Given the description of an element on the screen output the (x, y) to click on. 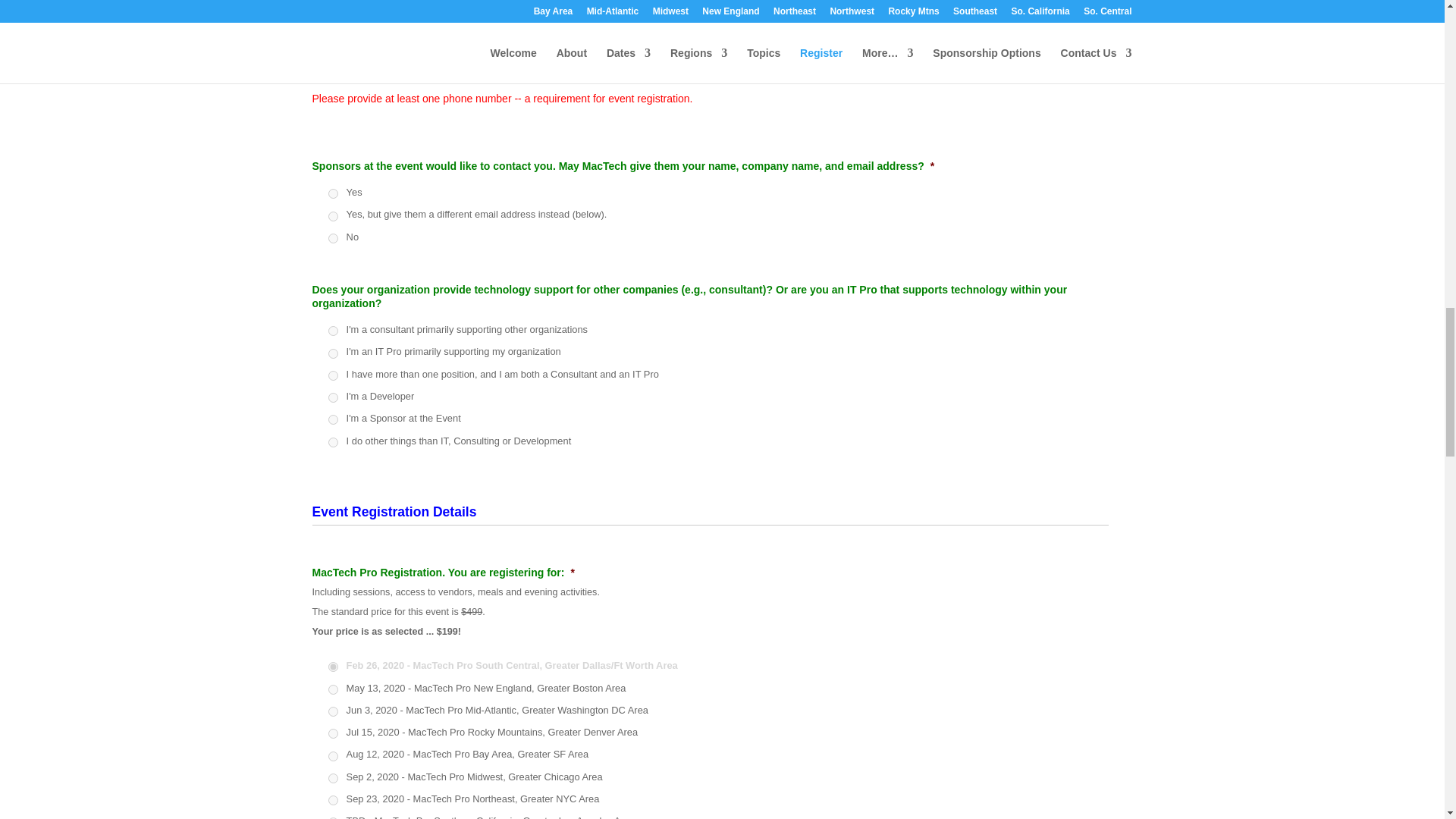
Multi-ITPro-Consultant (332, 375)
Yes (332, 194)
ITPro (332, 353)
No (332, 238)
Consultant (332, 330)
